Given the description of an element on the screen output the (x, y) to click on. 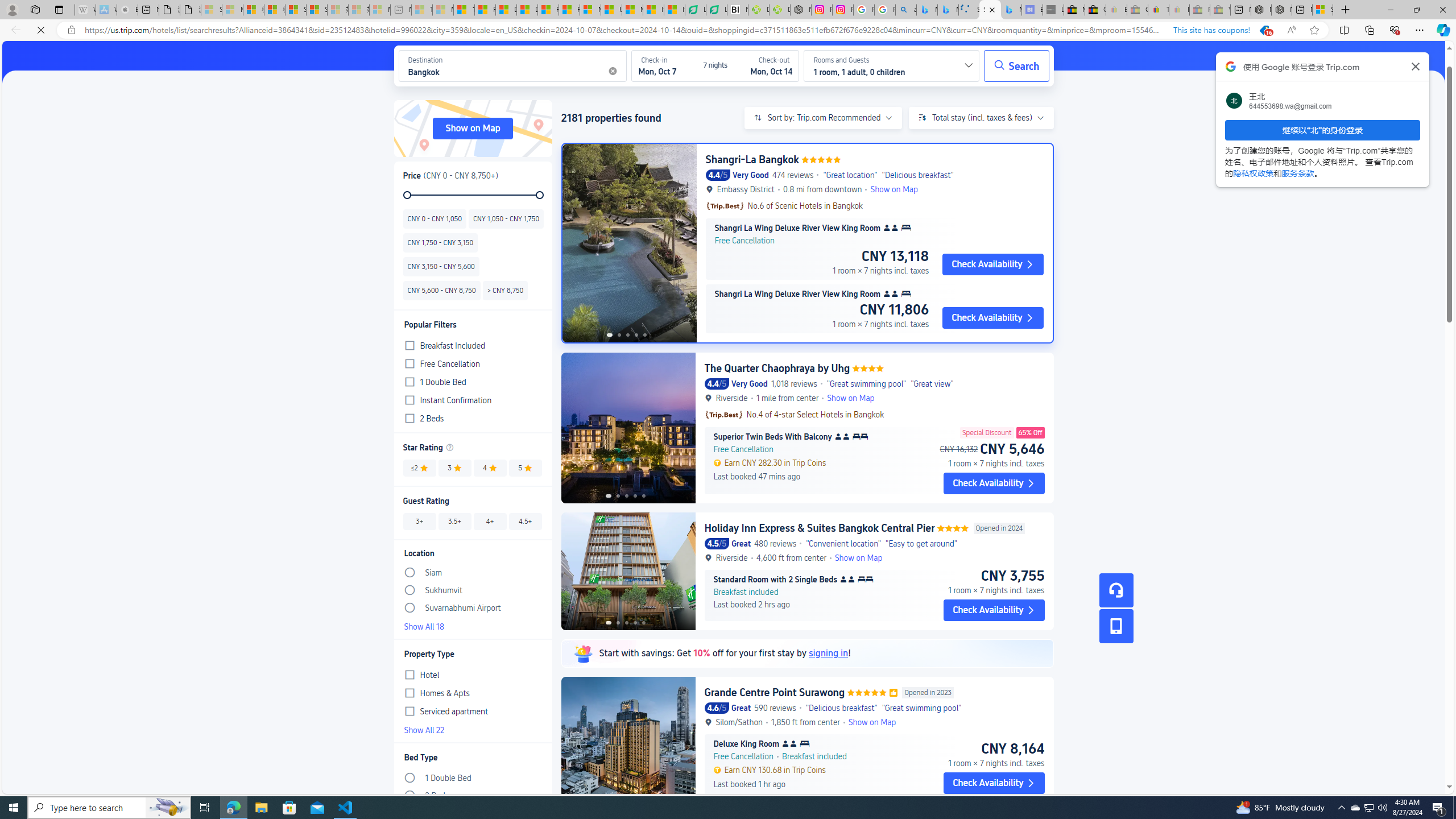
This site has coupons! Shopping in Microsoft Edge, 16 (1222, 29)
Yard, Garden & Outdoor Living - Sleeping (1219, 9)
Class: topAwardInfo_logo (724, 414)
Check-out (767, 65)
Microsoft Bing Travel - Shangri-La Hotel Bangkok (1010, 9)
Check-in (662, 65)
